Given the description of an element on the screen output the (x, y) to click on. 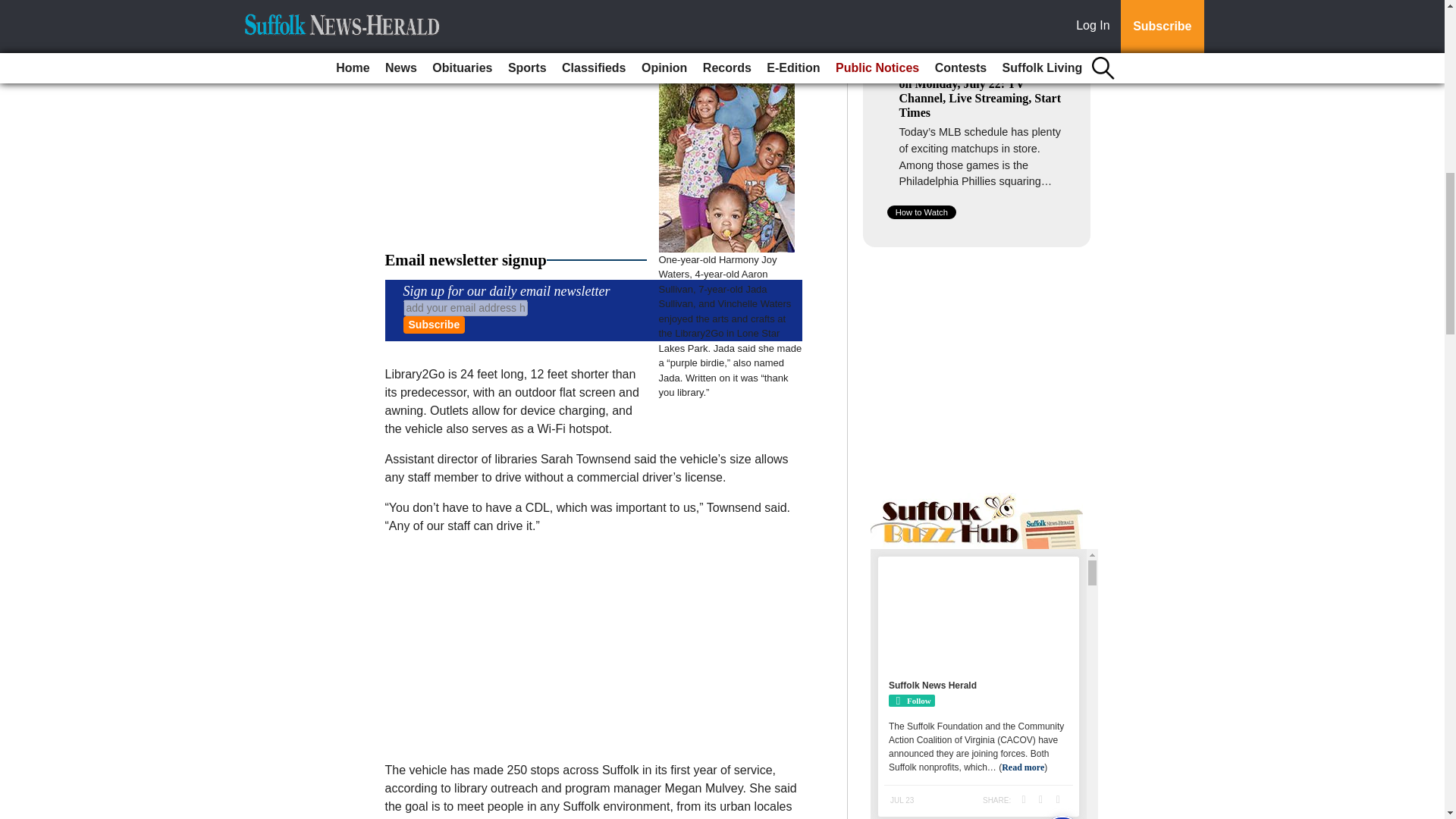
Subscribe (434, 324)
How to Watch (921, 212)
Subscribe (434, 324)
